Given the description of an element on the screen output the (x, y) to click on. 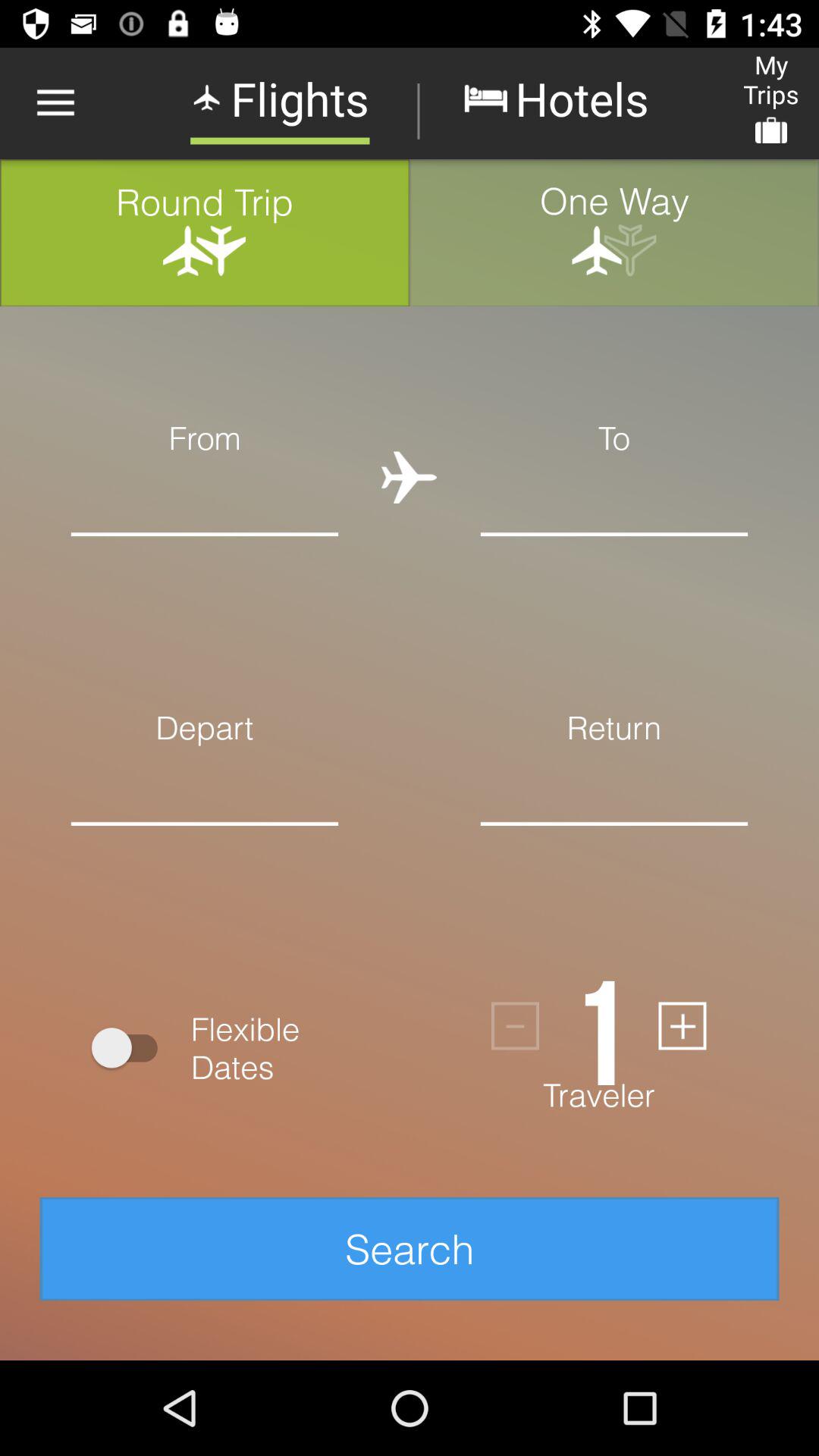
launch the item above the return icon (613, 496)
